Given the description of an element on the screen output the (x, y) to click on. 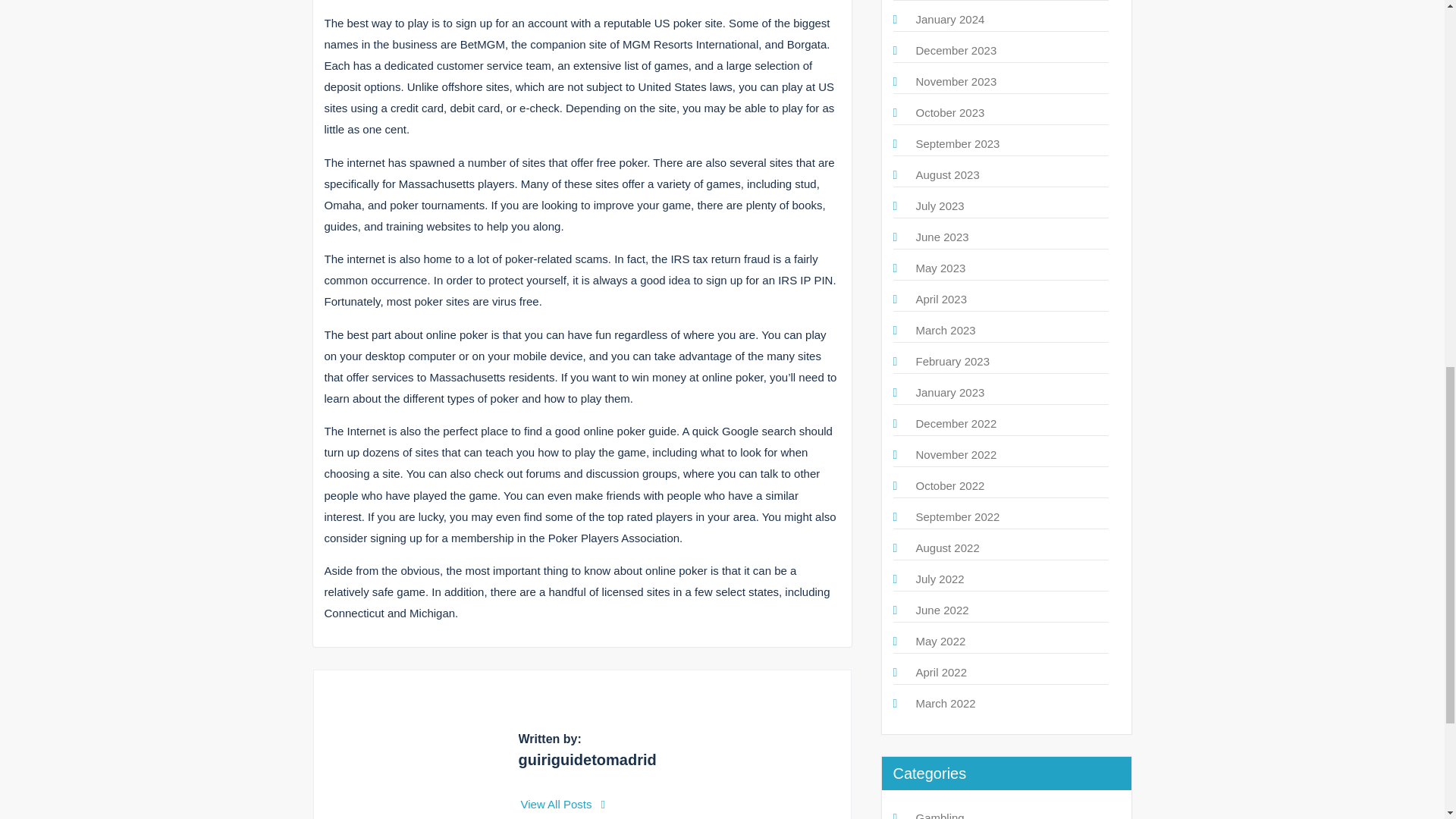
May 2023 (940, 267)
February 2023 (952, 360)
September 2022 (957, 516)
December 2022 (956, 422)
August 2022 (947, 547)
January 2023 (950, 391)
View All Posts (562, 803)
October 2022 (950, 485)
June 2022 (942, 609)
May 2022 (940, 640)
January 2024 (950, 19)
June 2023 (942, 236)
November 2022 (956, 454)
March 2023 (945, 329)
December 2023 (956, 50)
